Given the description of an element on the screen output the (x, y) to click on. 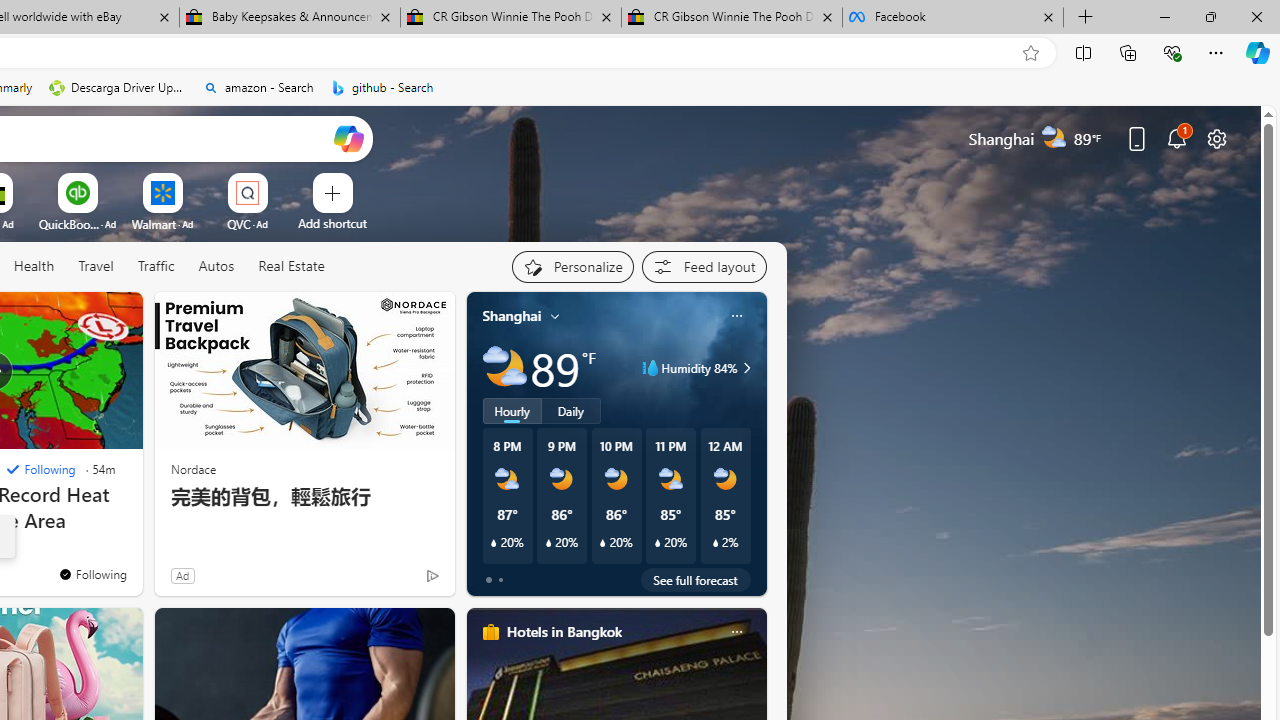
Partly cloudy (504, 368)
My location (555, 315)
Class: weather-current-precipitation-glyph (715, 543)
Daily (571, 411)
